Given the description of an element on the screen output the (x, y) to click on. 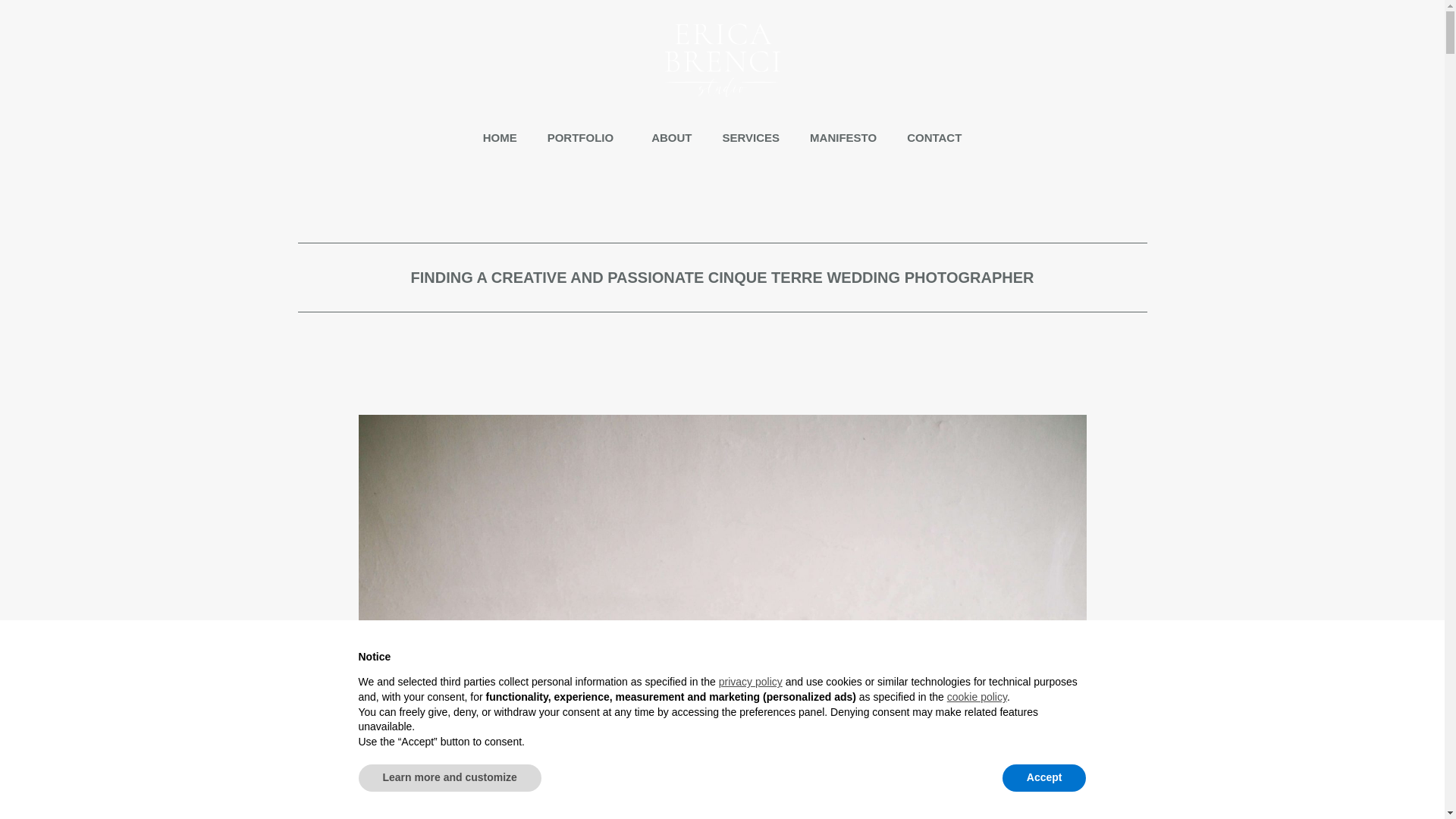
MANIFESTO (842, 137)
HOME (499, 137)
PORTFOLIO (584, 137)
ABOUT (671, 137)
CONTACT (933, 137)
SERVICES (750, 137)
